Given the description of an element on the screen output the (x, y) to click on. 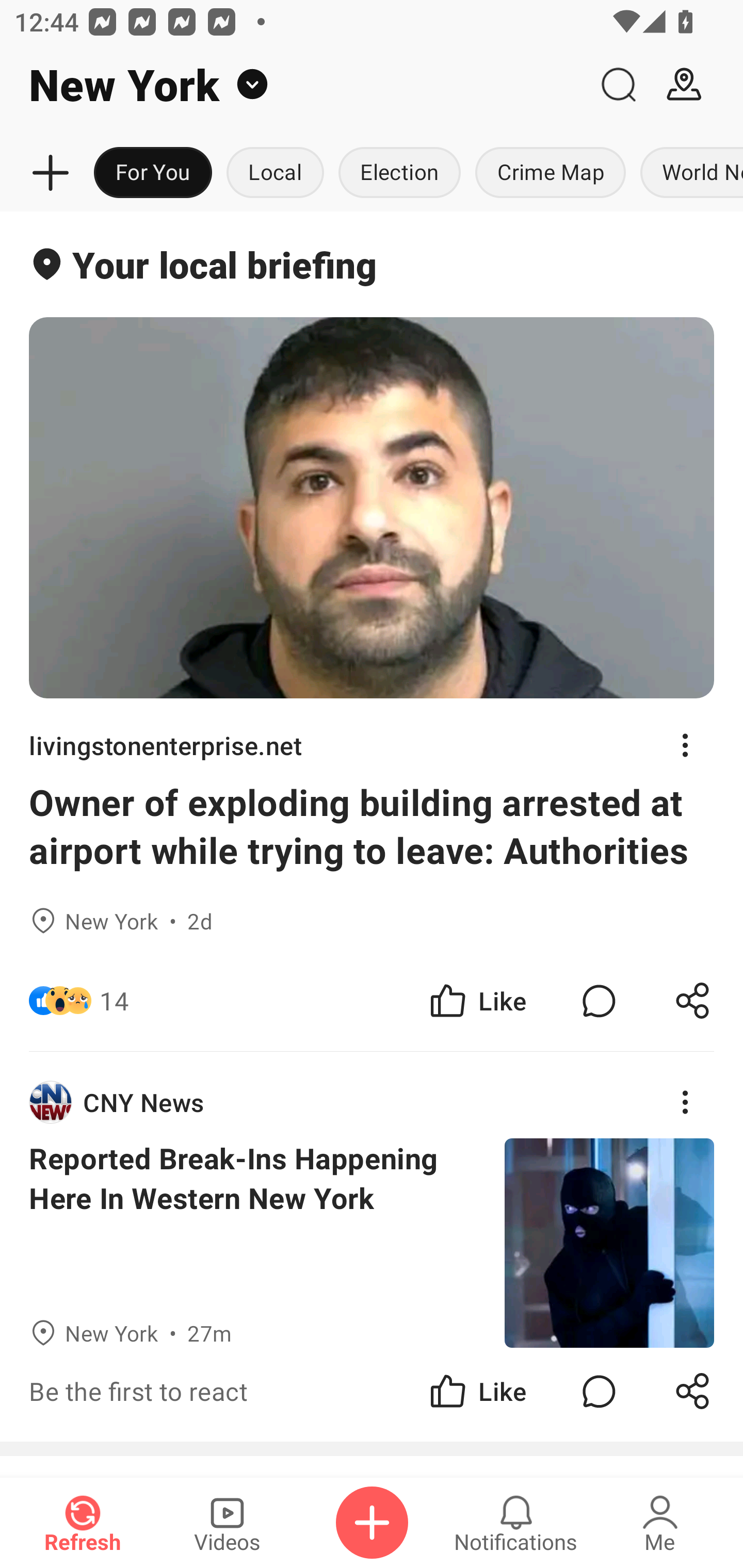
New York (292, 84)
For You (152, 172)
Local (275, 172)
Election (399, 172)
Crime Map (550, 172)
World News (688, 172)
14 (114, 1001)
Like (476, 1001)
Be the first to react (244, 1391)
Like (476, 1391)
Videos (227, 1522)
Notifications (516, 1522)
Me (659, 1522)
